Given the description of an element on the screen output the (x, y) to click on. 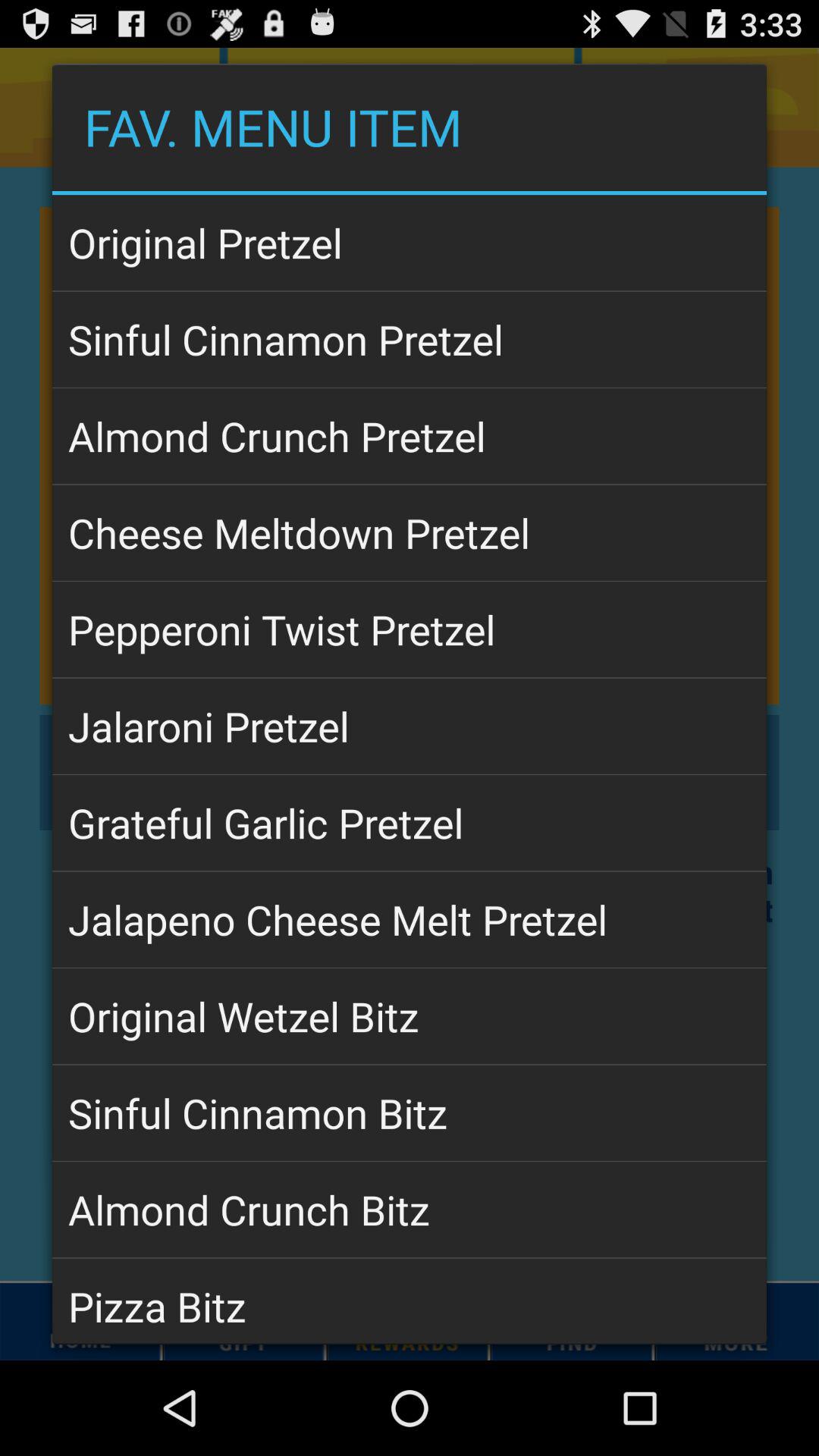
press item below the almond crunch pretzel icon (409, 532)
